Given the description of an element on the screen output the (x, y) to click on. 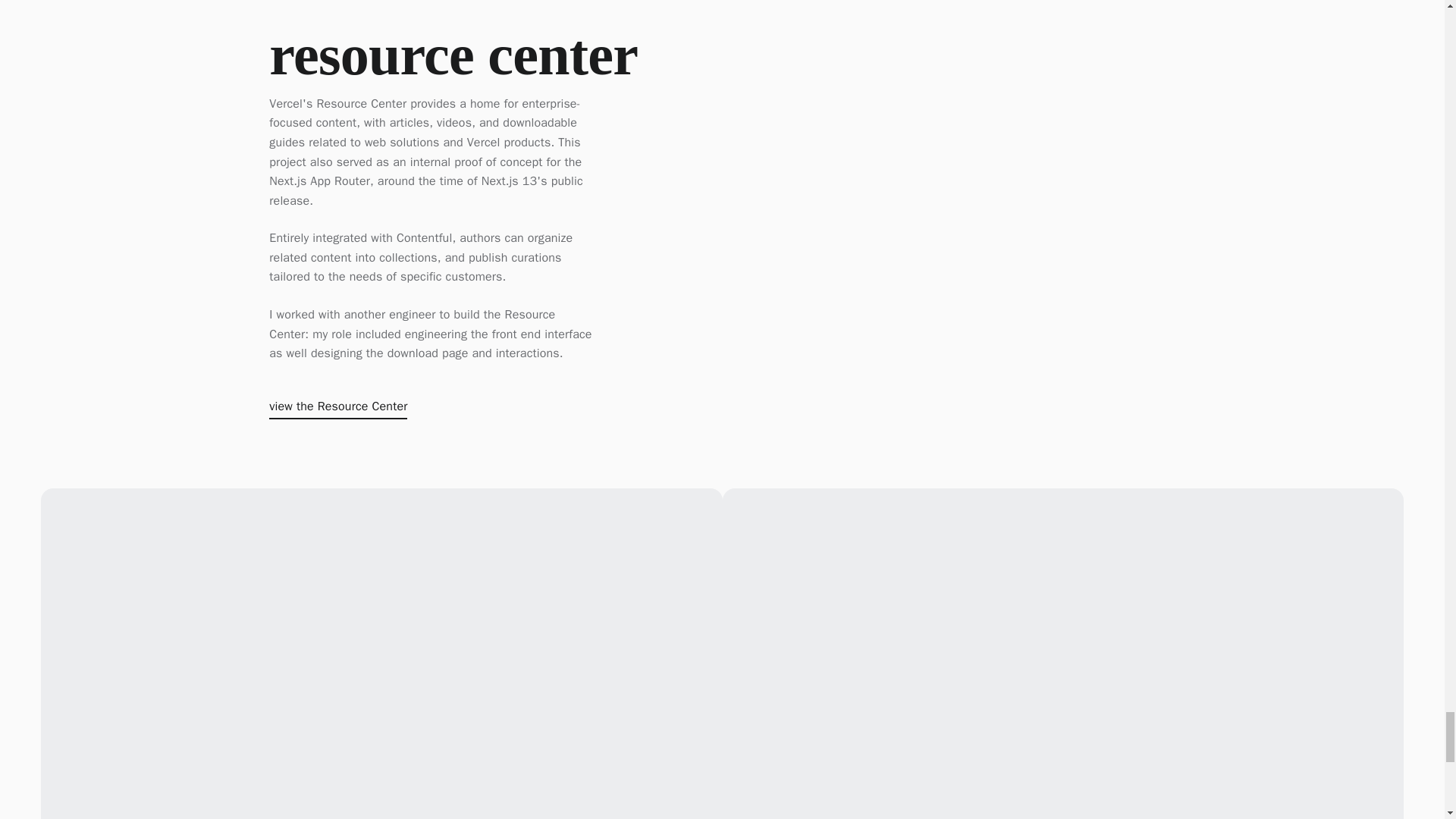
view the Resource Center (338, 409)
